Given the description of an element on the screen output the (x, y) to click on. 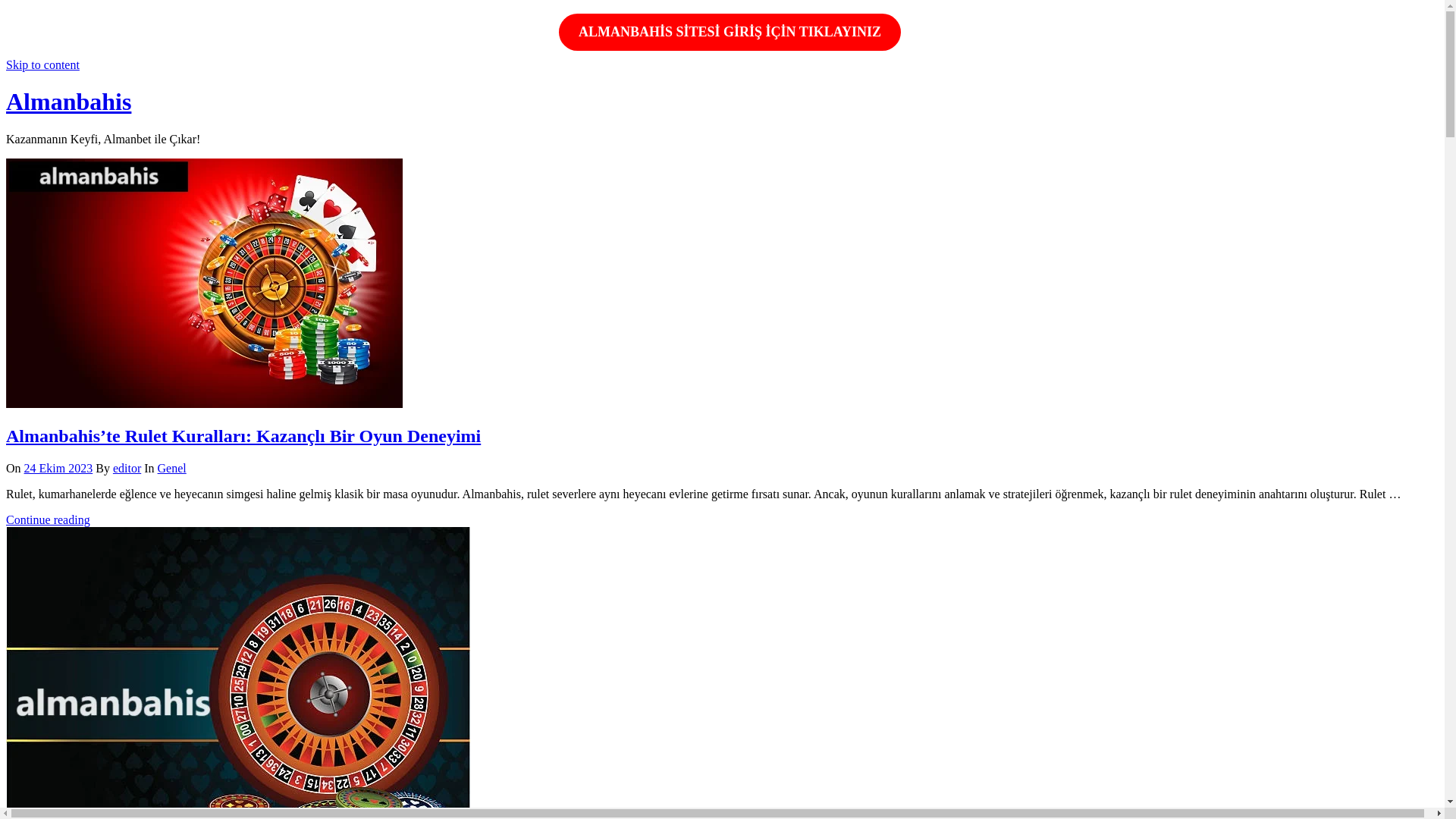
Genel Element type: text (171, 467)
24 Ekim 2023 Element type: text (58, 467)
Continue reading Element type: text (48, 519)
editor Element type: text (126, 467)
Skip to content Element type: text (42, 64)
Almanbahis Element type: text (68, 101)
